Given the description of an element on the screen output the (x, y) to click on. 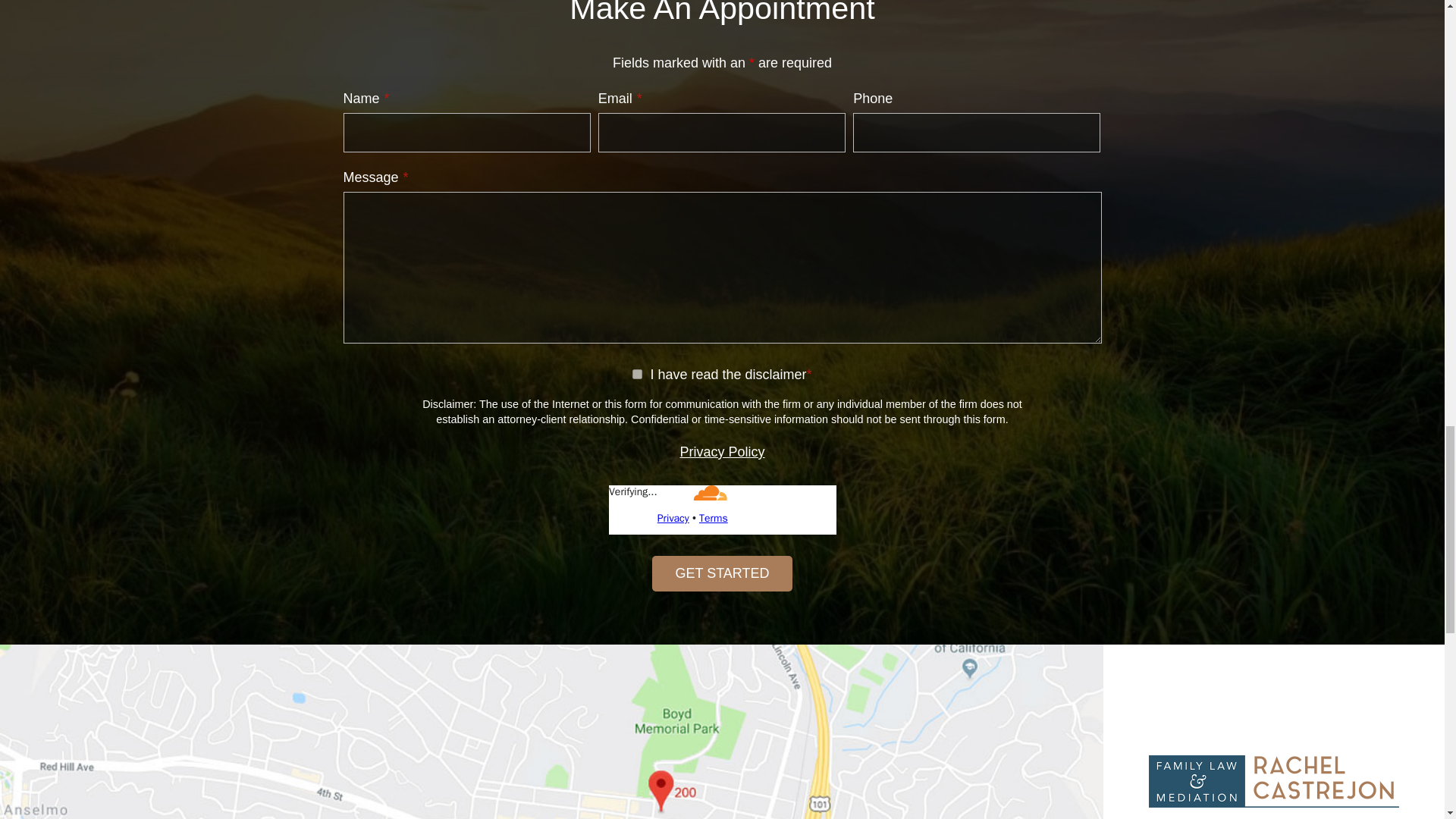
1 (636, 374)
Get Started (722, 574)
